Given the description of an element on the screen output the (x, y) to click on. 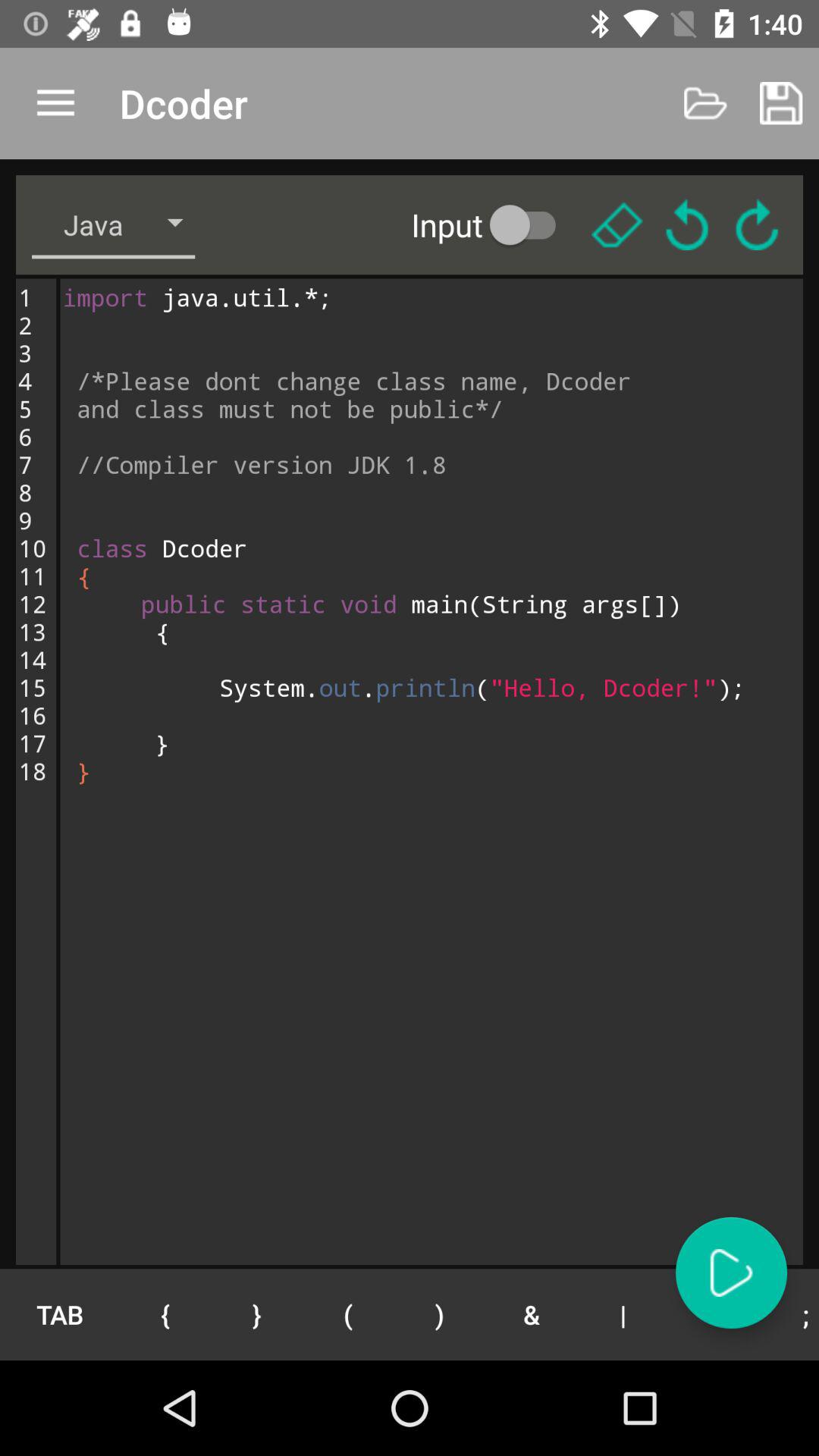
press item next to | item (531, 1314)
